Given the description of an element on the screen output the (x, y) to click on. 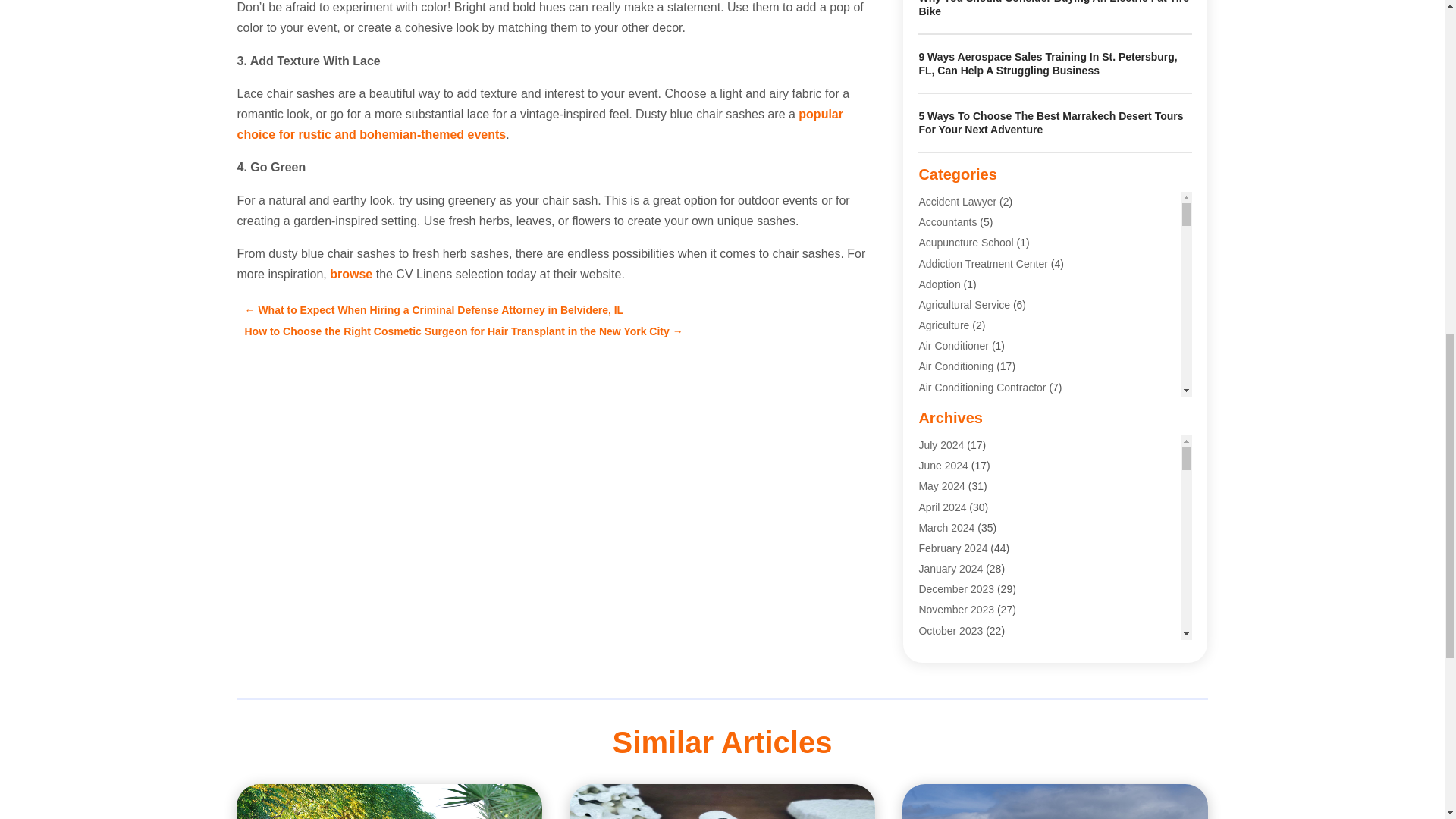
Agricultural Service (964, 304)
Accident Lawyer (956, 201)
browse (351, 273)
Addiction Treatment Center (982, 263)
Accountants (947, 222)
Air Conditioning (955, 366)
popular choice for rustic and bohemian-themed events (539, 123)
Adoption (938, 284)
Air Conditioning Contractor (981, 387)
Why You Should Consider Buying An Electric Fat Tire Bike (1053, 8)
Agriculture (943, 325)
Air Conditioner (953, 345)
Acupuncture School (965, 242)
